Given the description of an element on the screen output the (x, y) to click on. 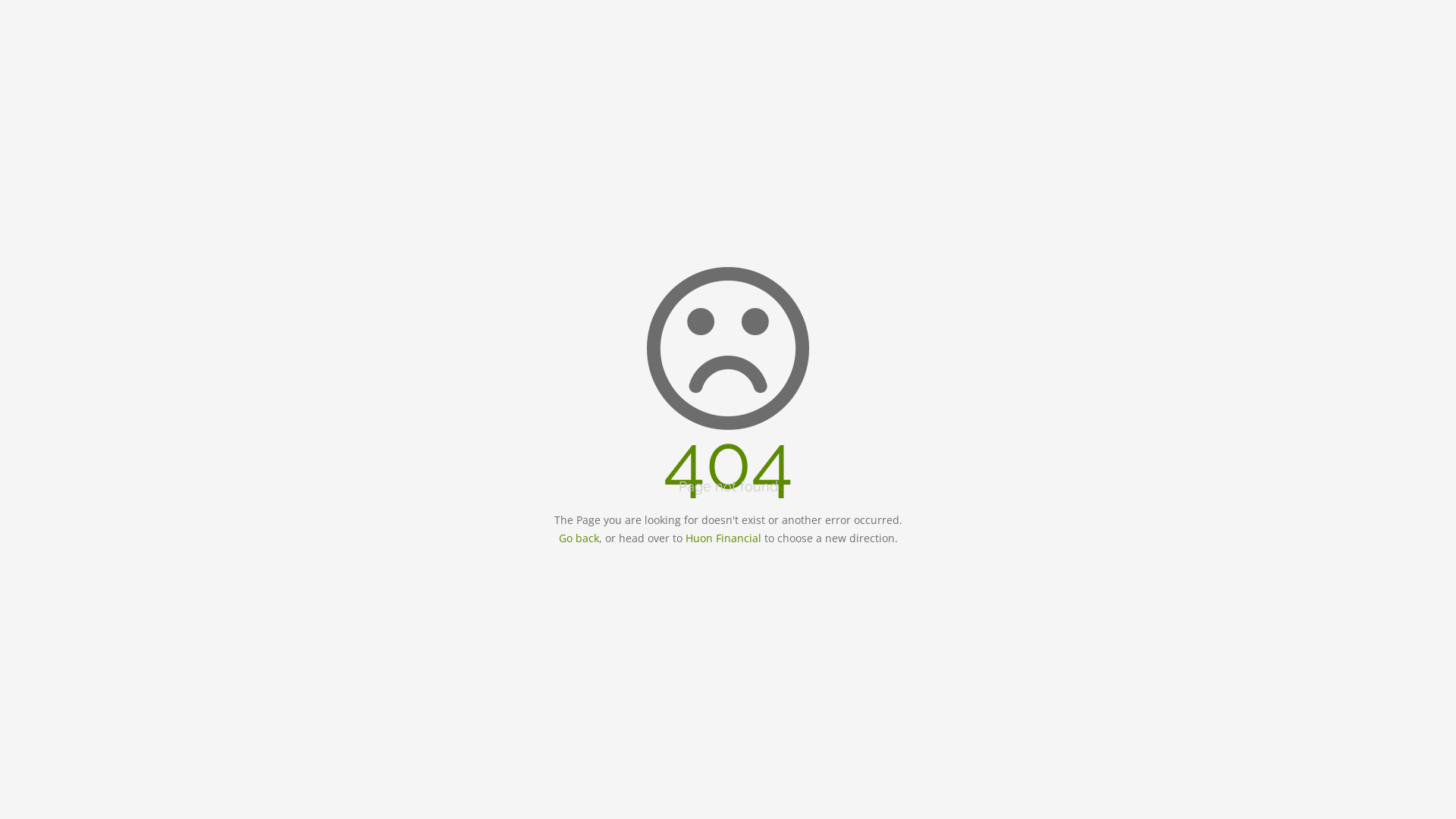
Huon Financial Element type: text (723, 537)
Go back Element type: text (578, 537)
